Given the description of an element on the screen output the (x, y) to click on. 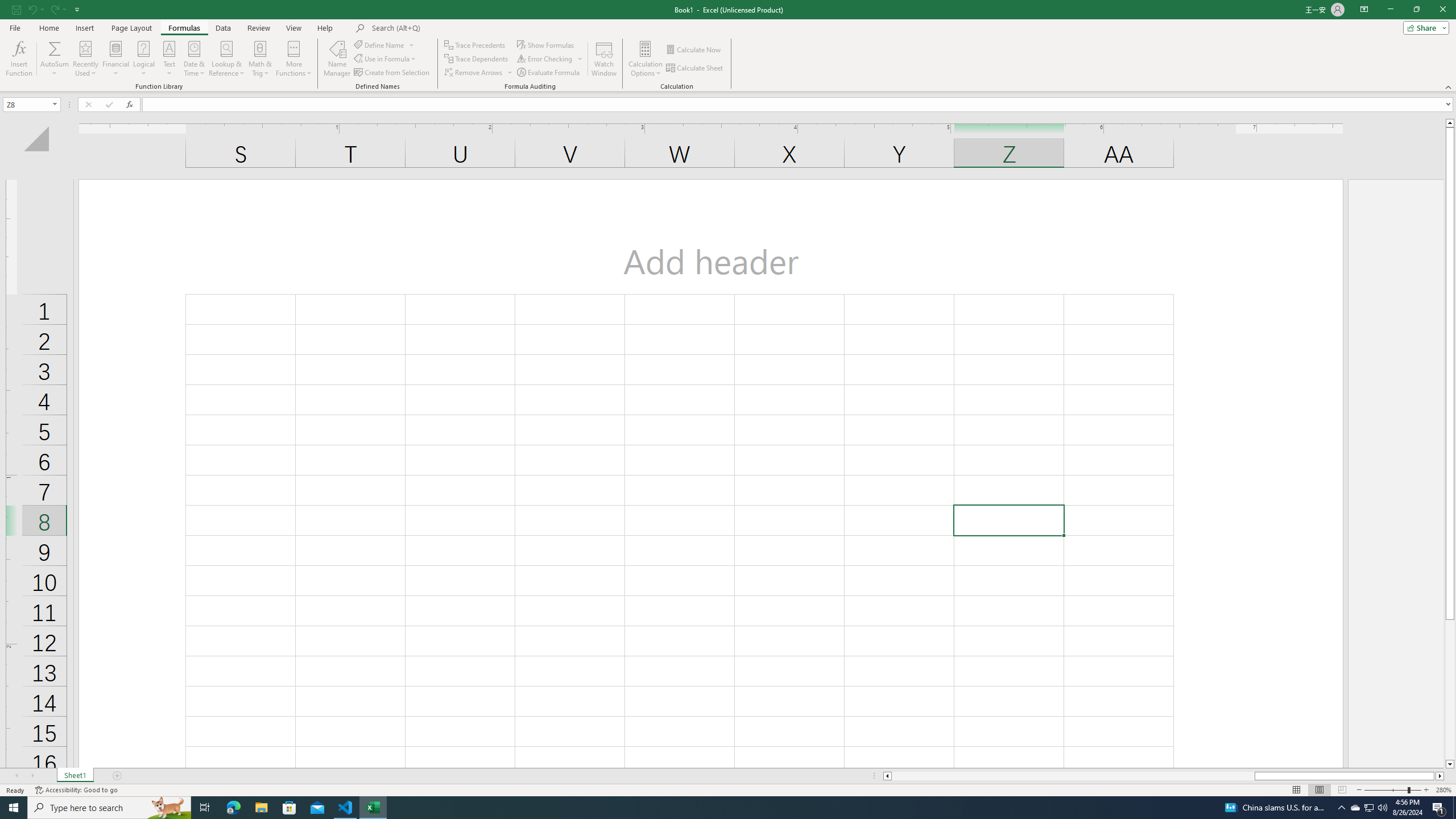
Page left (1073, 775)
Sum (54, 48)
Math & Trig (260, 58)
